Given the description of an element on the screen output the (x, y) to click on. 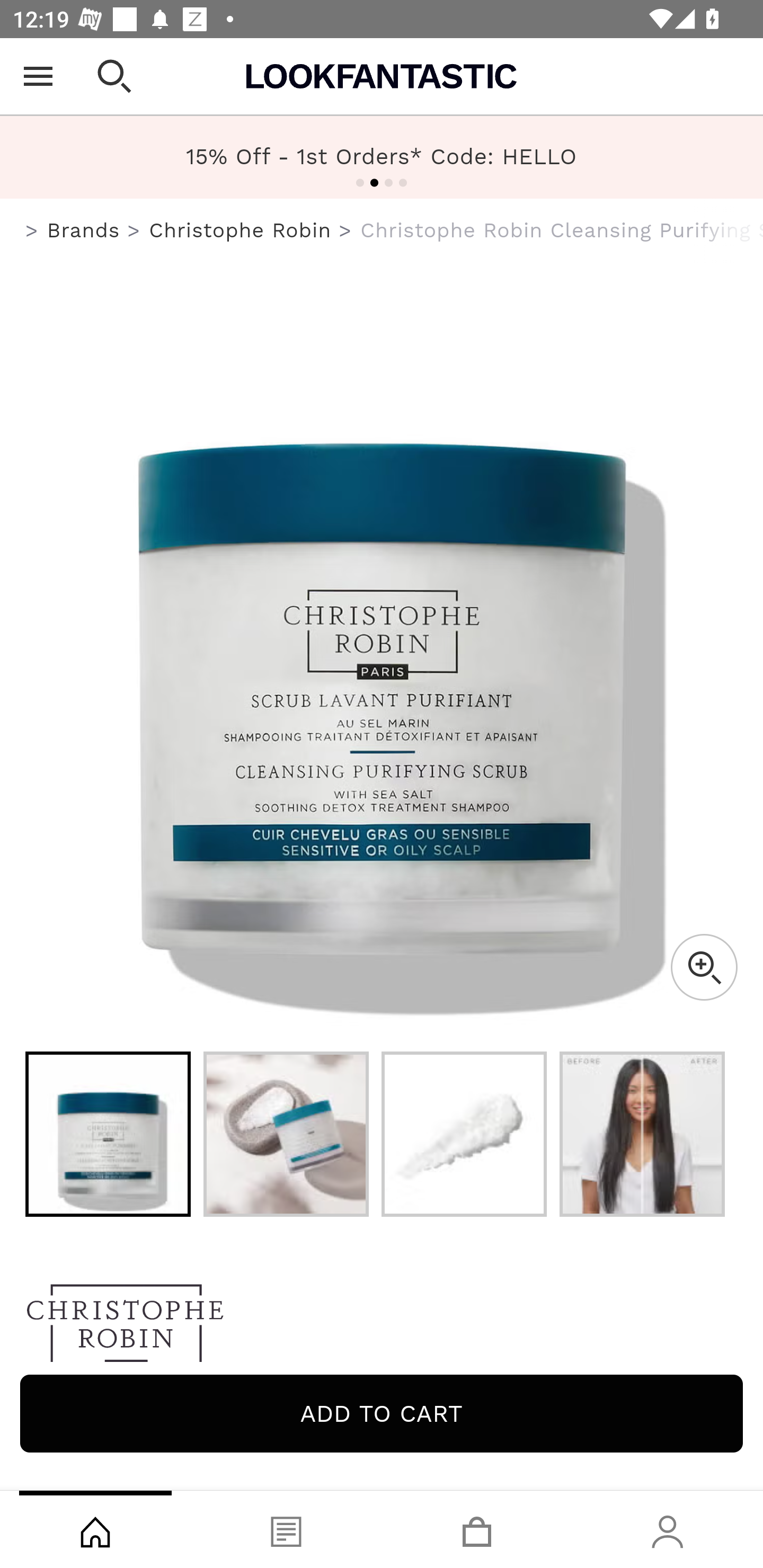
Open Menu (38, 75)
Open search (114, 75)
Lookfantastic USA (381, 75)
us.lookfantastic (32, 230)
Brands (82, 230)
Christophe Robin (239, 230)
Zoom (703, 966)
Christophe Robin (381, 1327)
Add to cart (381, 1413)
Shop, tab, 1 of 4 (95, 1529)
Blog, tab, 2 of 4 (285, 1529)
Basket, tab, 3 of 4 (476, 1529)
Account, tab, 4 of 4 (667, 1529)
